Given the description of an element on the screen output the (x, y) to click on. 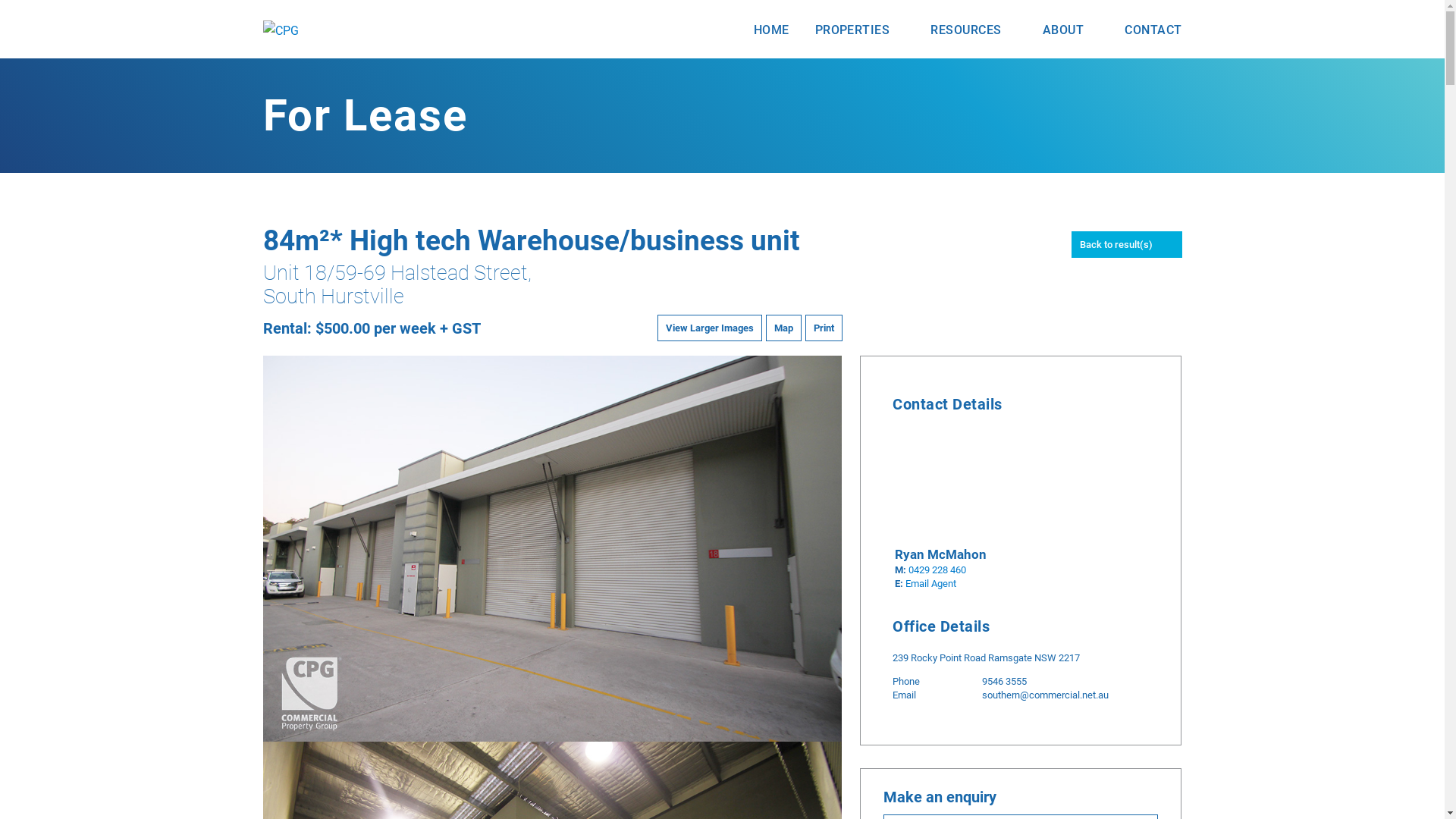
southern@commercial.net.au Element type: text (1045, 694)
ABOUT Element type: text (1070, 29)
RESOURCES Element type: text (973, 29)
Print Element type: text (823, 327)
Map Element type: text (783, 327)
9546 3555 Element type: text (1004, 681)
View Larger Images Element type: text (709, 327)
HOME Element type: text (771, 29)
PROPERTIES Element type: text (860, 29)
0429 228 460 Element type: text (937, 569)
CONTACT Element type: text (1152, 29)
CPG Element type: hover (280, 30)
Email Agent Element type: text (930, 583)
Back to result(s) Element type: text (1125, 244)
